Given the description of an element on the screen output the (x, y) to click on. 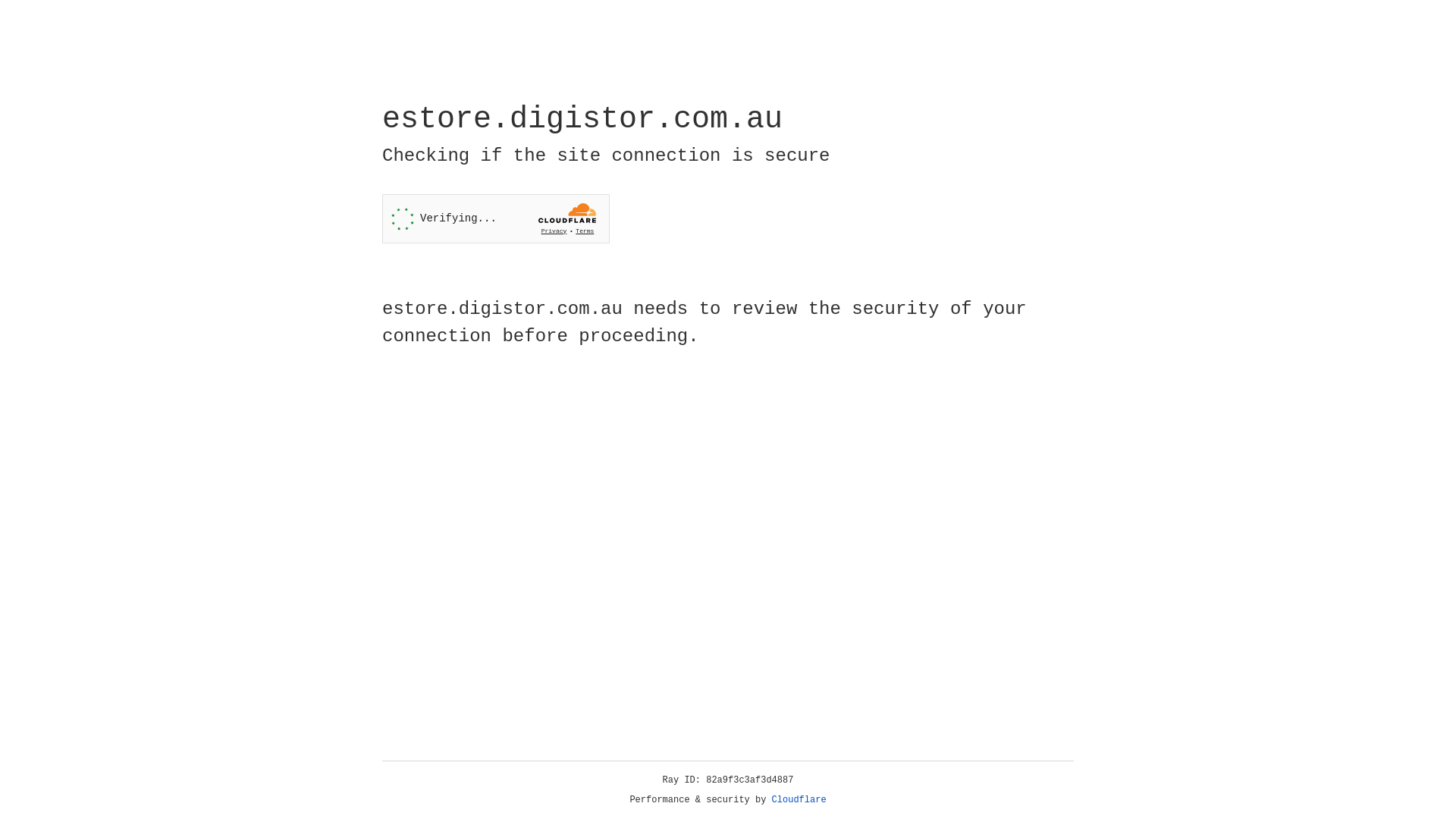
Widget containing a Cloudflare security challenge Element type: hover (495, 218)
Cloudflare Element type: text (798, 799)
